Given the description of an element on the screen output the (x, y) to click on. 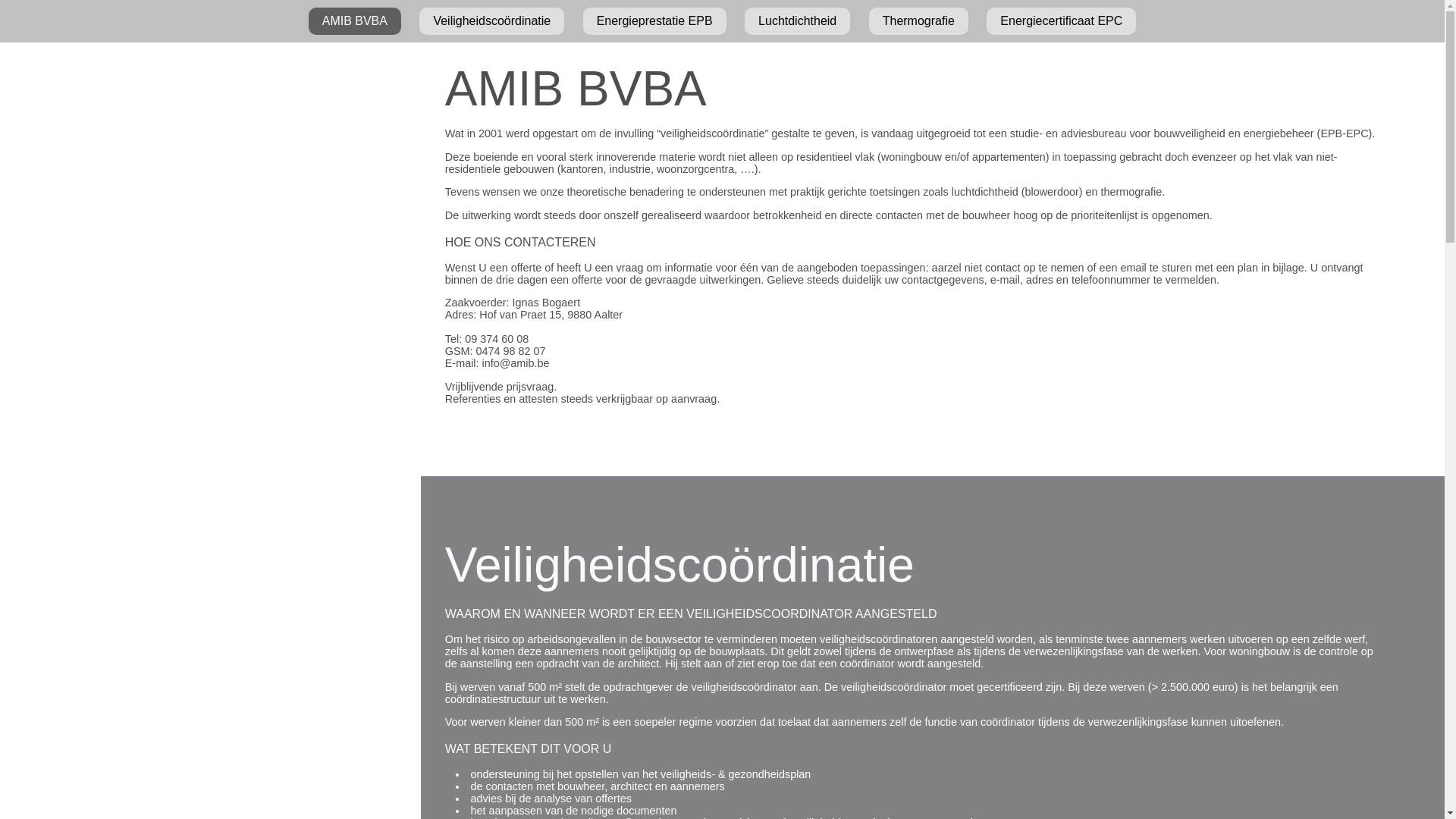
Energiecertificaat EPC Element type: text (1060, 20)
AMIB BVBA Element type: text (354, 20)
Energieprestatie EPB Element type: text (654, 20)
Thermografie Element type: text (918, 20)
Luchtdichtheid Element type: text (797, 20)
